Given the description of an element on the screen output the (x, y) to click on. 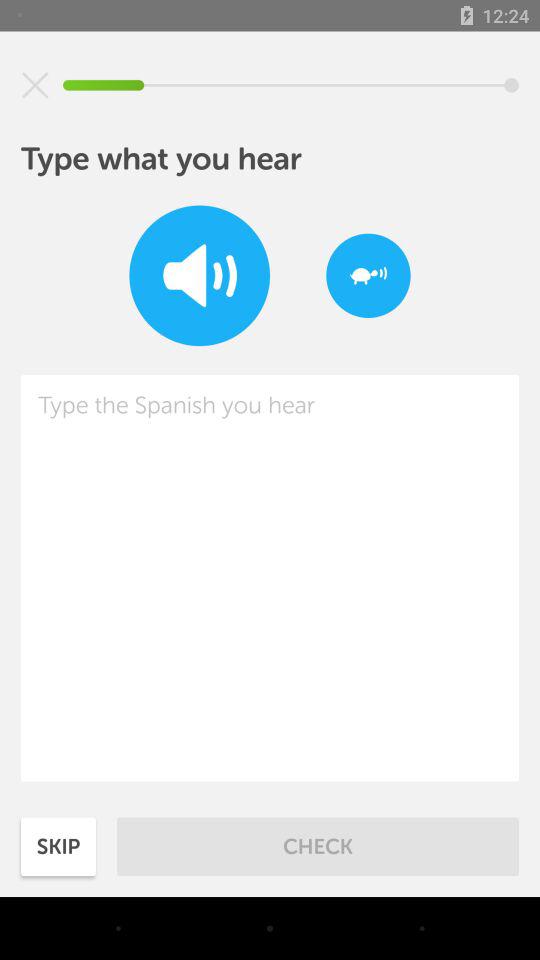
mutes volume (35, 85)
